Given the description of an element on the screen output the (x, y) to click on. 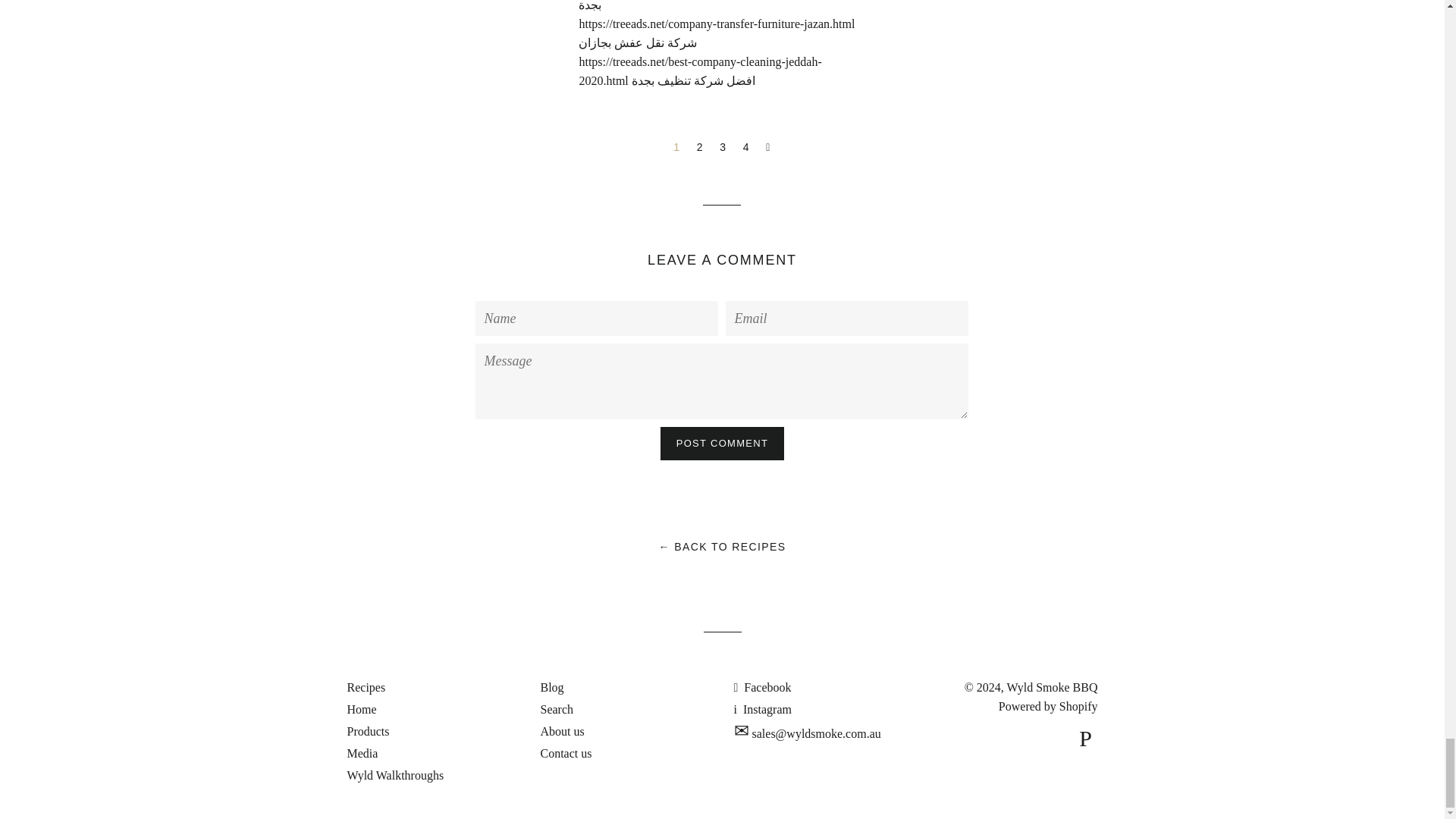
Recipes (366, 686)
2 (700, 146)
Post comment (722, 443)
Wyld Smoke BBQ on Facebook (762, 686)
Post comment (722, 443)
4 (745, 146)
3 (722, 146)
Wyld Smoke BBQ on Instagram (762, 708)
